Given the description of an element on the screen output the (x, y) to click on. 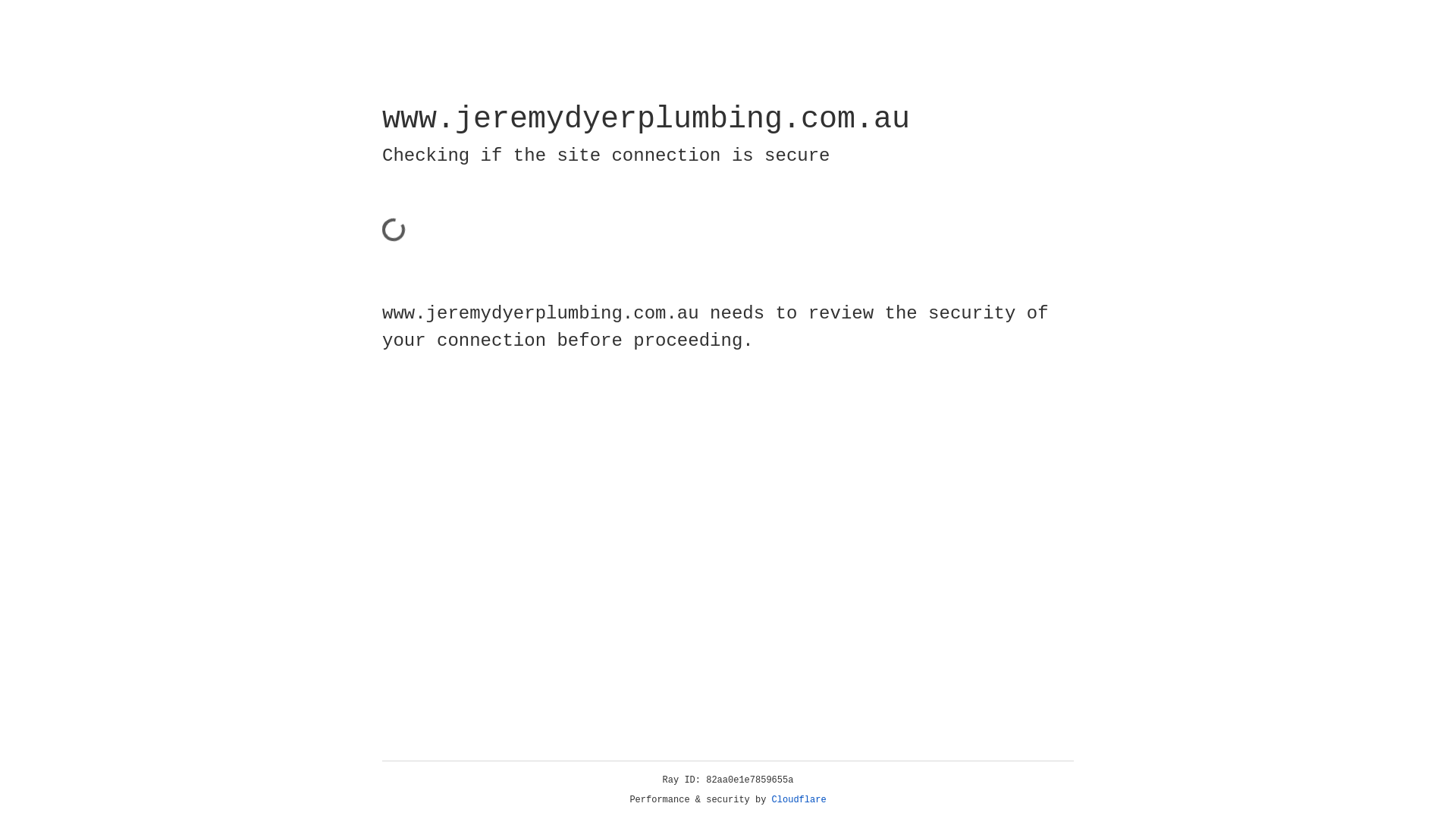
Cloudflare Element type: text (798, 799)
